Given the description of an element on the screen output the (x, y) to click on. 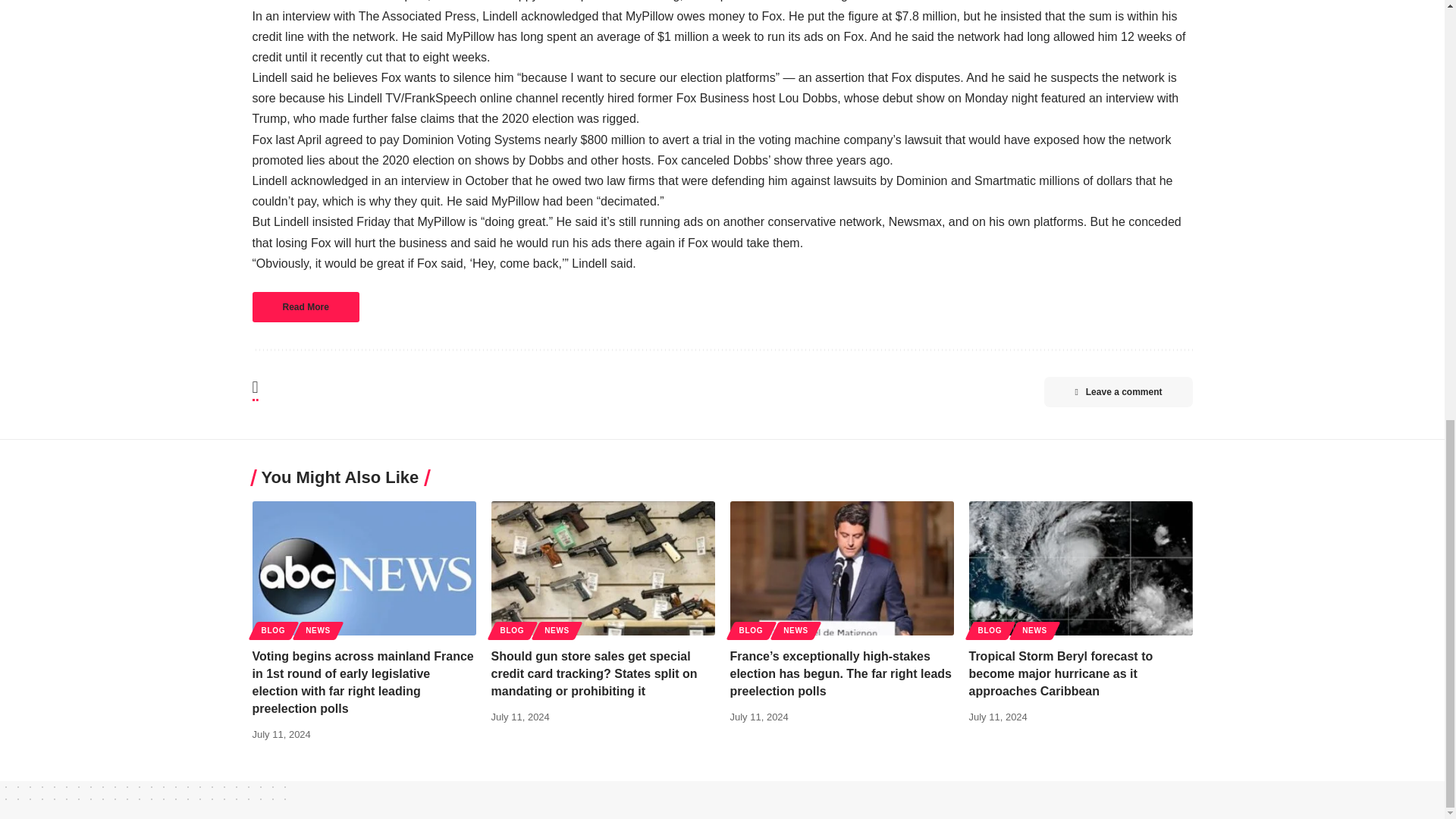
Read More (304, 306)
BLOG (272, 630)
BLOG (990, 630)
BLOG (513, 630)
NEWS (1035, 630)
NEWS (556, 630)
BLOG (750, 630)
NEWS (795, 630)
Leave a comment (1117, 391)
